Given the description of an element on the screen output the (x, y) to click on. 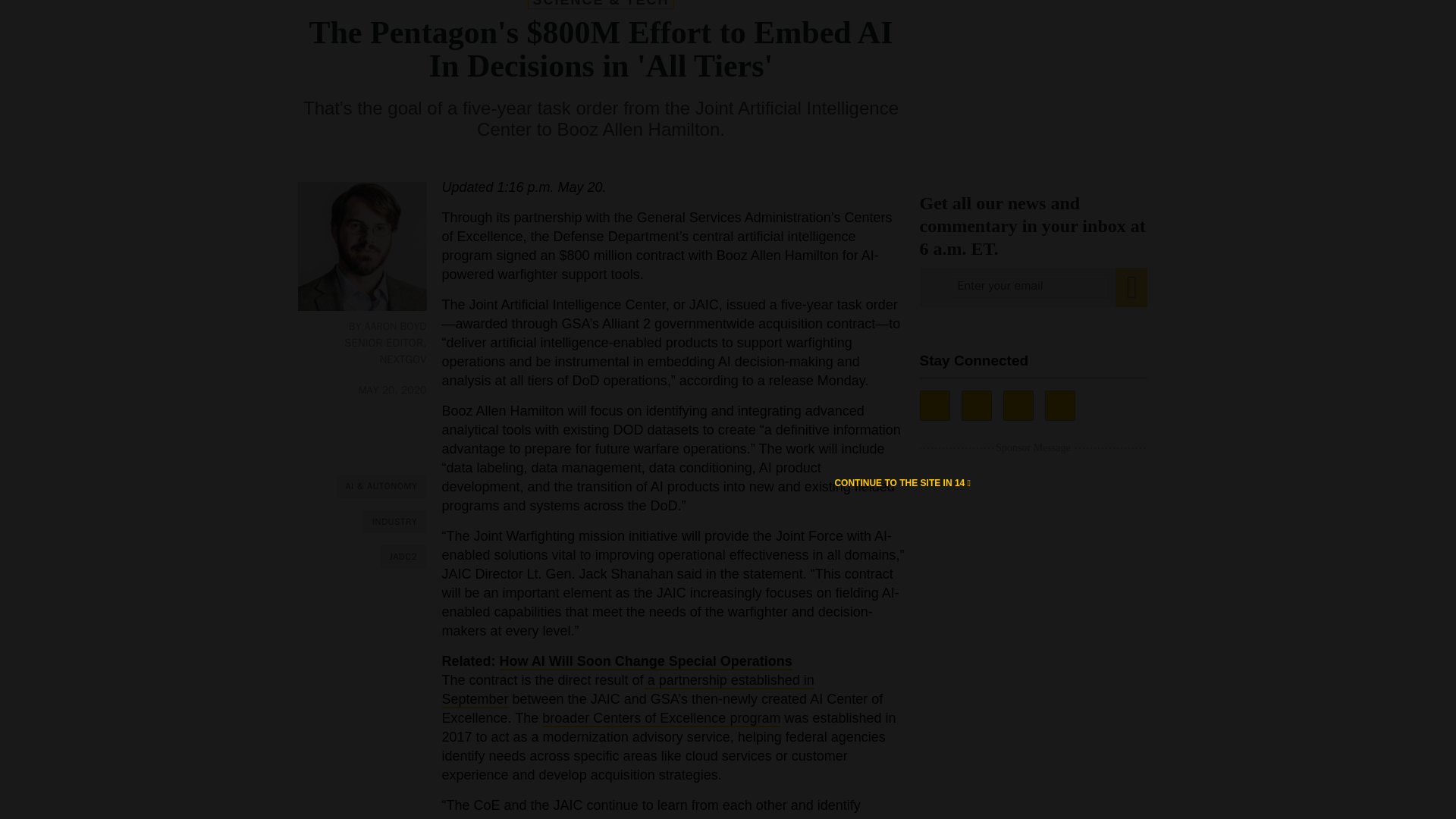
3rd party ad content (1032, 76)
